Given the description of an element on the screen output the (x, y) to click on. 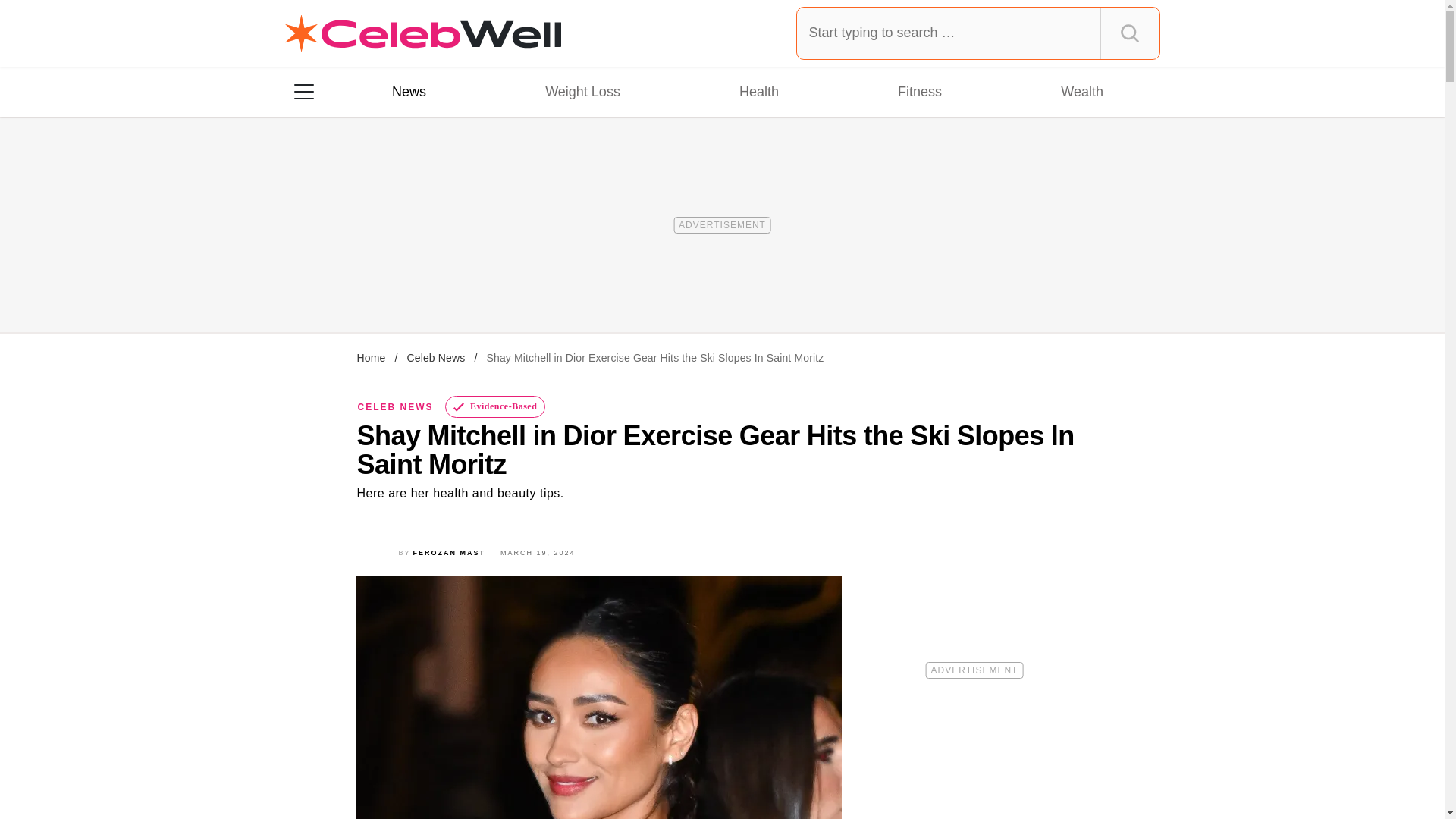
FEROZAN MAST (449, 552)
Celebwell Homepage (422, 33)
Celeb News (435, 357)
News (408, 91)
Health (758, 91)
Posts by Ferozan Mast (449, 552)
Weight Loss (582, 91)
Type and press Enter to search (978, 32)
Home (370, 357)
Wealth (1081, 91)
